Given the description of an element on the screen output the (x, y) to click on. 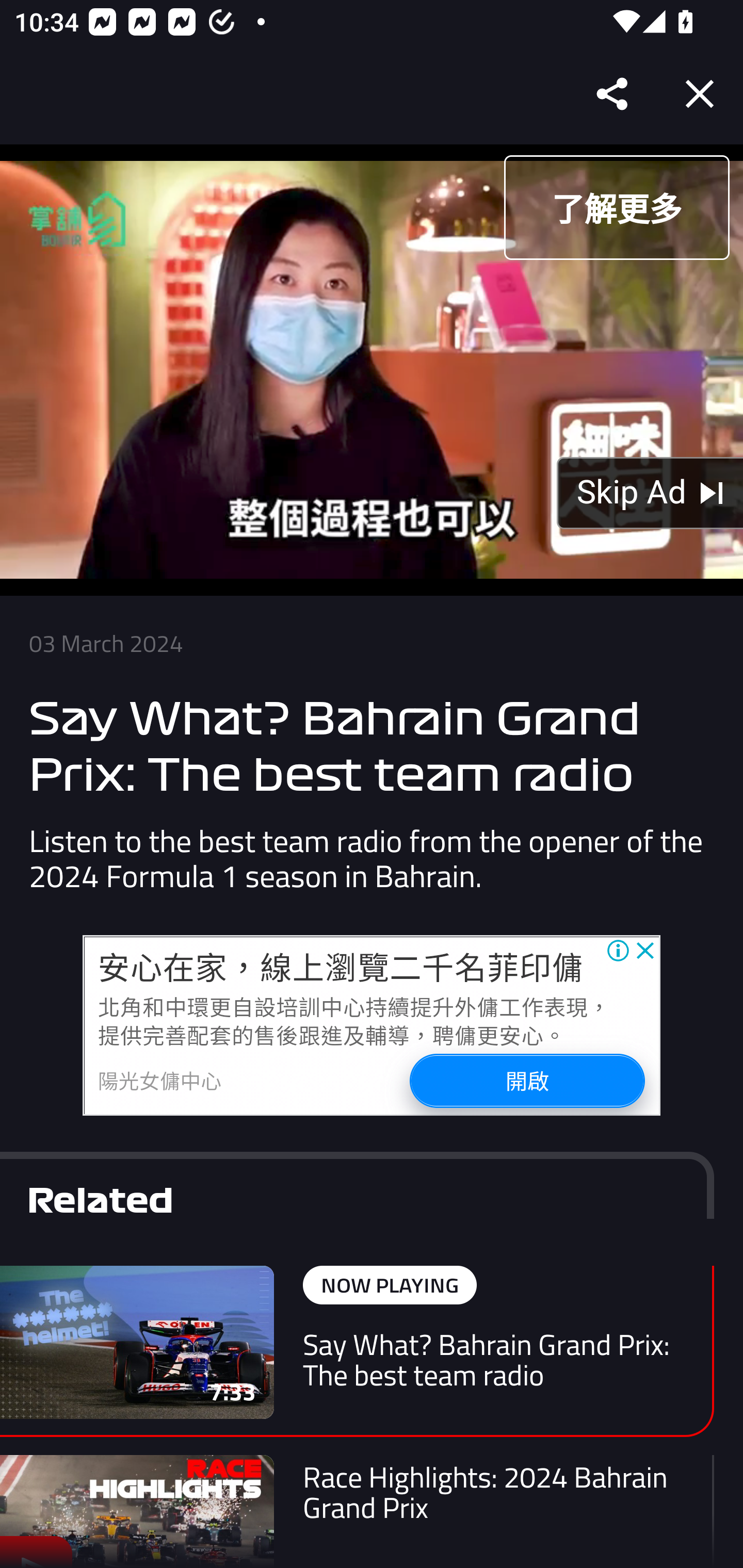
Share (612, 93)
Close (699, 93)
了解更多 (616, 207)
安心在家，線上瀏覽二千名菲印傭 (340, 966)
開啟 (526, 1080)
陽光女傭中心 (160, 1080)
7:13 Race Highlights: 2024 Bahrain Grand Prix (357, 1511)
